Given the description of an element on the screen output the (x, y) to click on. 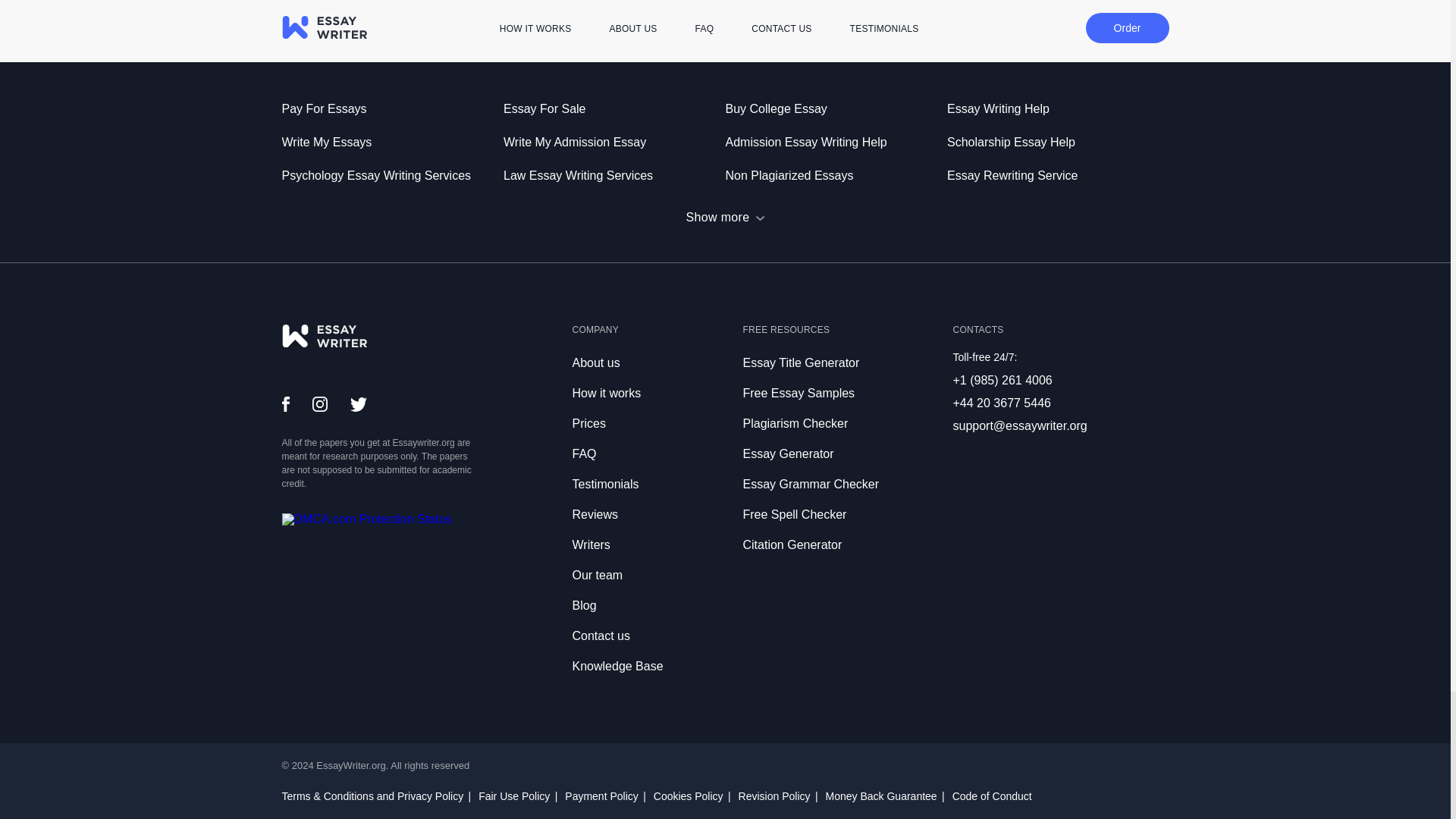
Pay For Essays (392, 108)
Write My Essays (392, 142)
Buy College Essay (836, 108)
Essay Rewriting Service (1058, 176)
Psychology Essay Writing Services (392, 176)
Law Essay Writing Services (614, 176)
Essay Writing Help (1058, 108)
DMCA.com Protection Status (366, 518)
Essay For Sale (614, 108)
Scholarship Essay Help (1058, 142)
